Given the description of an element on the screen output the (x, y) to click on. 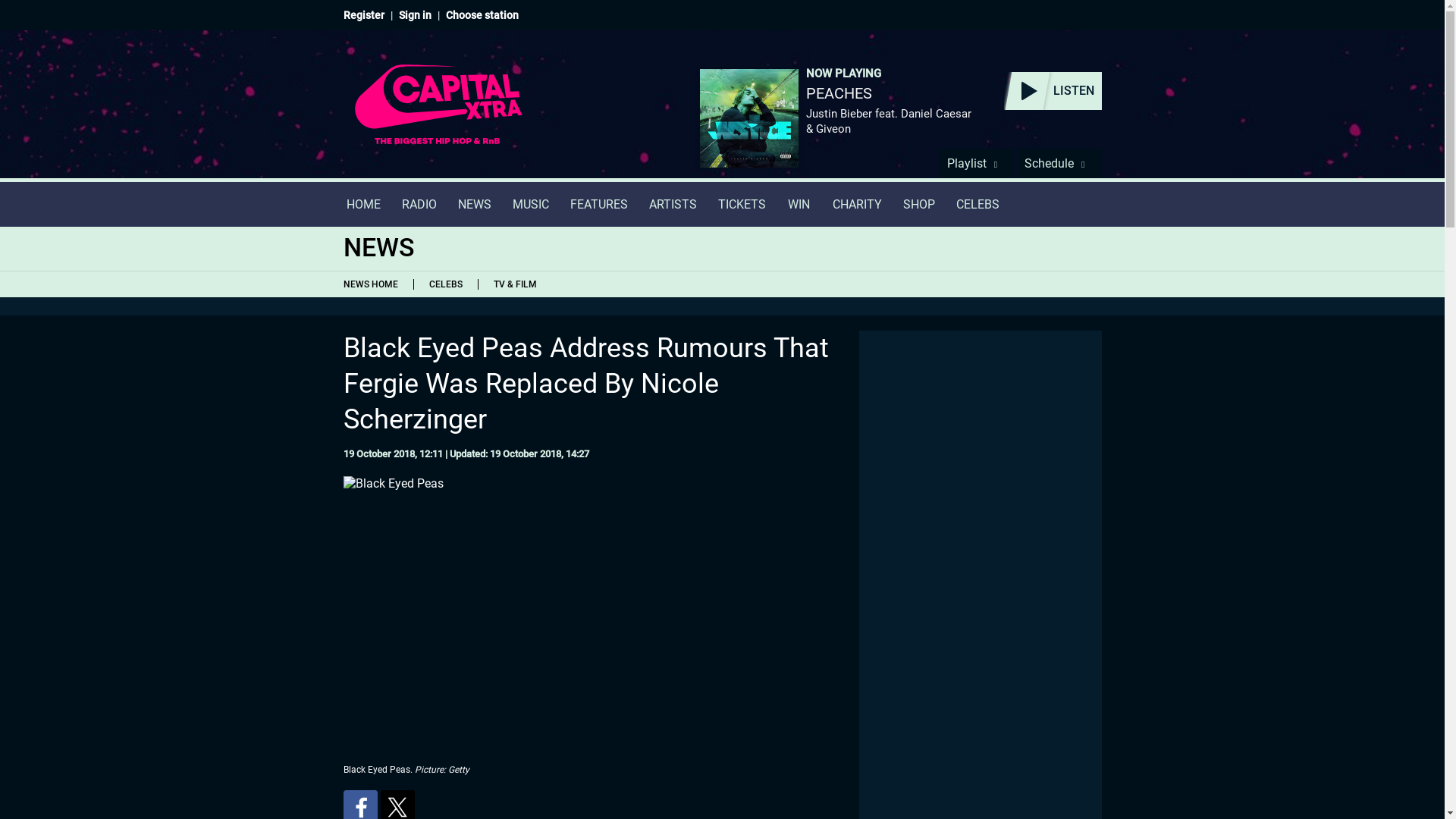
NEWS HOME (373, 284)
TICKETS (741, 203)
Choose station (481, 15)
MUSIC (530, 203)
CELEBS (444, 284)
FEATURES (599, 203)
CELEBS (976, 203)
HOME (362, 203)
CHARITY (857, 203)
SHOP (917, 203)
ARTISTS (673, 203)
Playlist (976, 163)
Schedule (1058, 163)
WIN (799, 203)
Capital XTRA (437, 113)
